Given the description of an element on the screen output the (x, y) to click on. 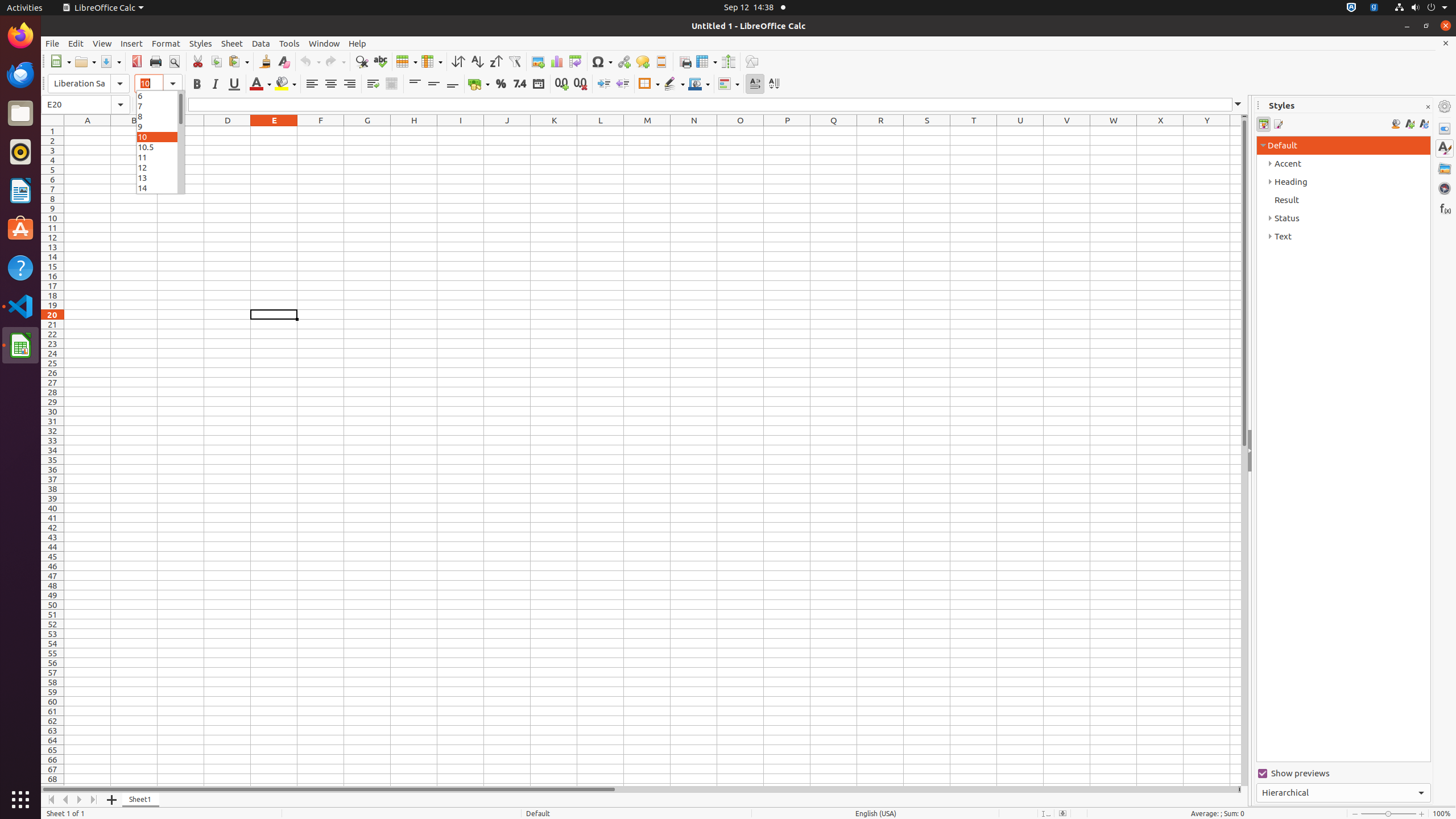
Styles Element type: menu (200, 43)
Insert Element type: menu (131, 43)
Fill Format Mode Element type: push-button (1395, 123)
Text direction from top to bottom Element type: toggle-button (773, 83)
Wrap Text Element type: push-button (372, 83)
